Given the description of an element on the screen output the (x, y) to click on. 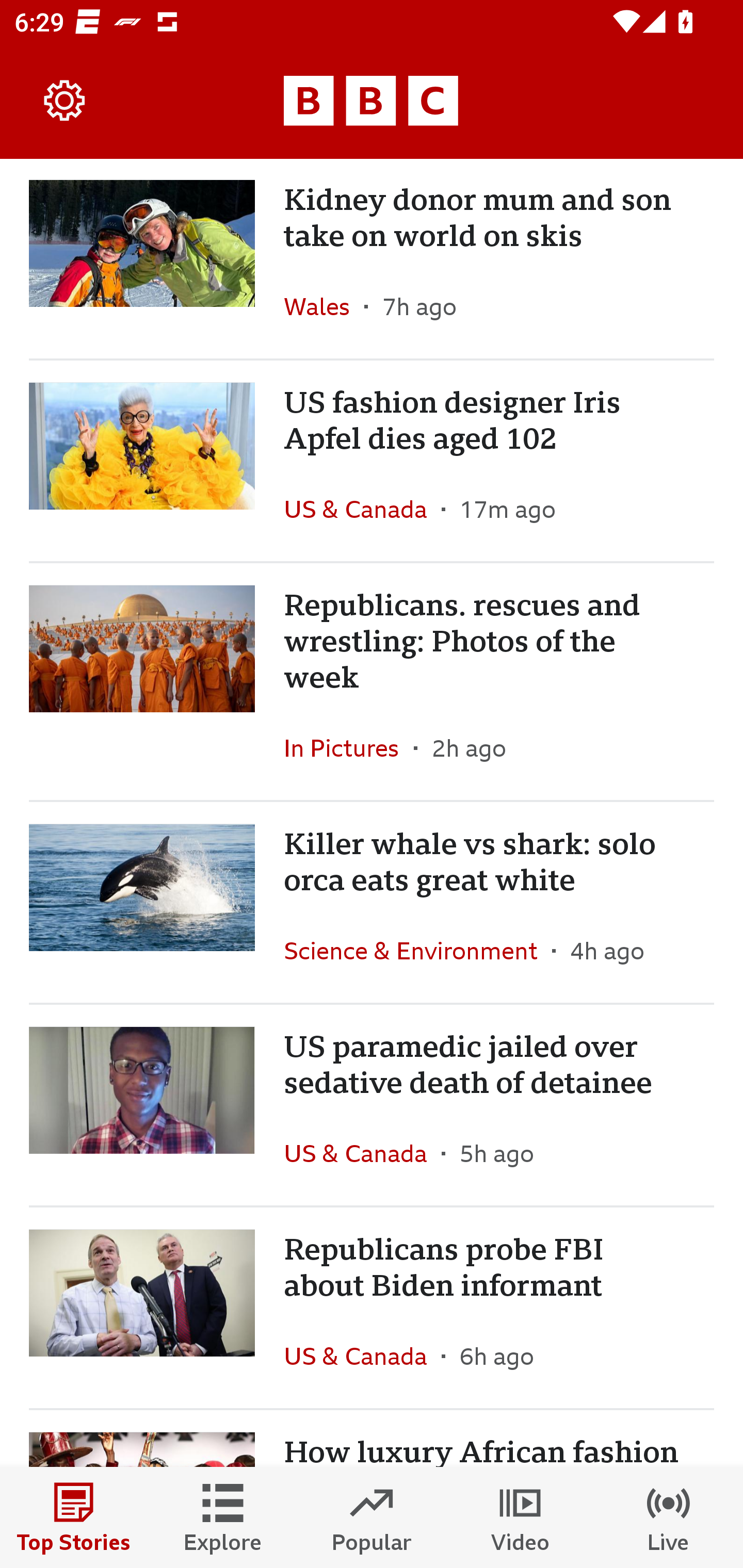
Settings (64, 100)
Wales In the section Wales (323, 306)
US & Canada In the section US & Canada (362, 508)
In Pictures In the section In Pictures (348, 747)
US & Canada In the section US & Canada (362, 1152)
US & Canada In the section US & Canada (362, 1356)
Explore (222, 1517)
Popular (371, 1517)
Video (519, 1517)
Live (668, 1517)
